Given the description of an element on the screen output the (x, y) to click on. 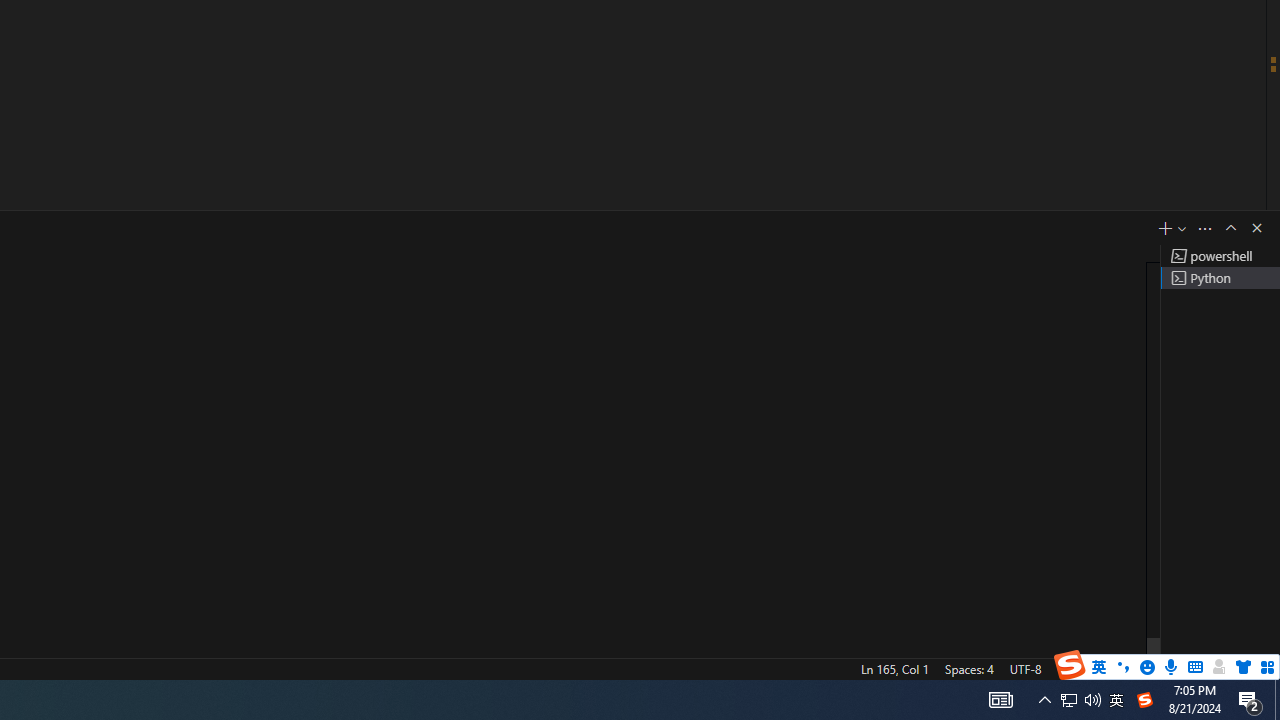
Hide Panel (1256, 227)
CRLF (1070, 668)
Python (1135, 668)
Views and More Actions... (1205, 227)
Spaces: 4 (968, 668)
Terminal 3 Python (1220, 277)
UTF-8 (1025, 668)
Ln 165, Col 1 (894, 668)
Terminal 1 powershell (1220, 255)
Launch Profile... (1181, 227)
